Given the description of an element on the screen output the (x, y) to click on. 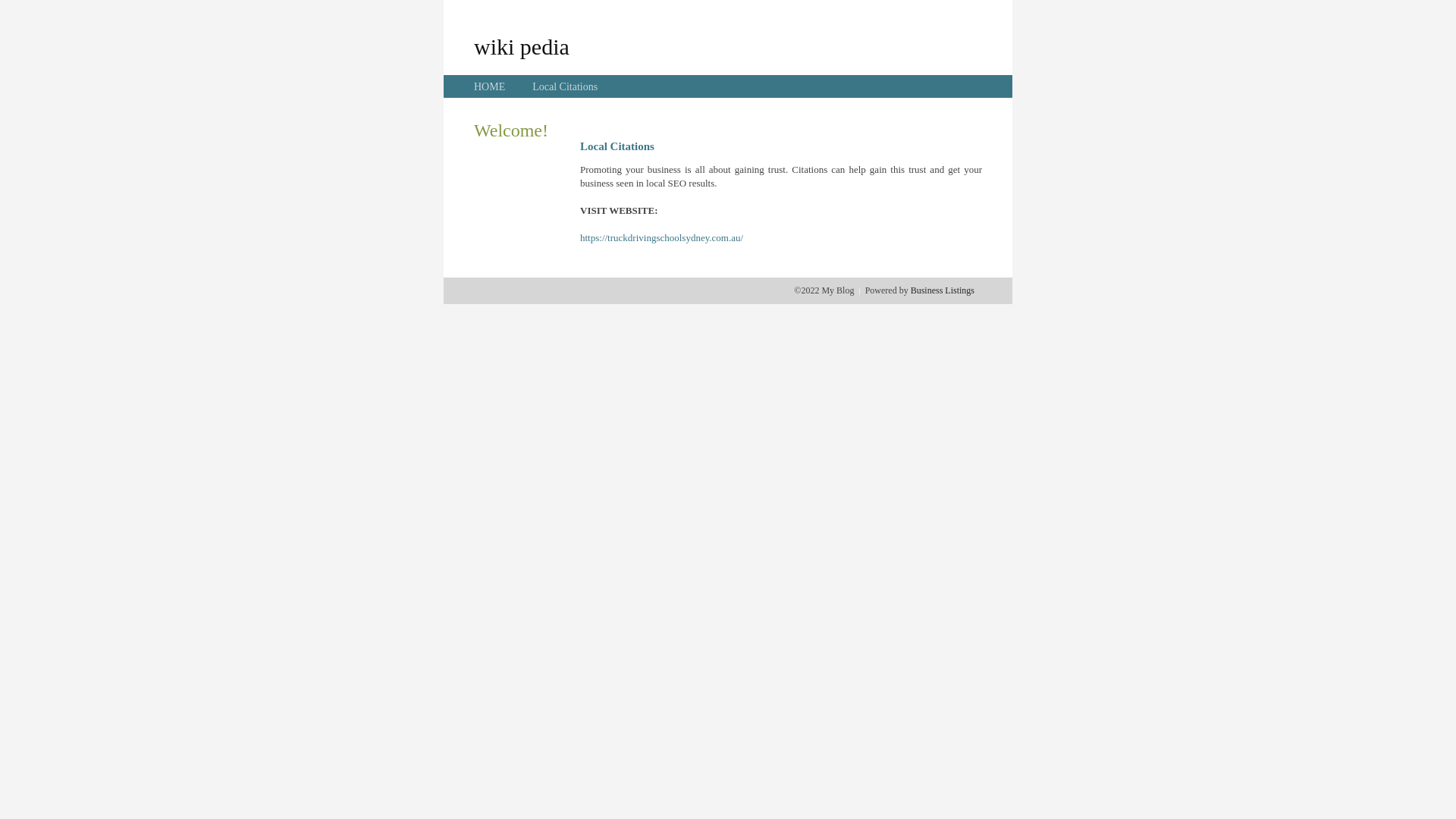
https://truckdrivingschoolsydney.com.au/ Element type: text (661, 237)
wiki pedia Element type: text (521, 46)
HOME Element type: text (489, 86)
Local Citations Element type: text (564, 86)
Business Listings Element type: text (942, 290)
